Given the description of an element on the screen output the (x, y) to click on. 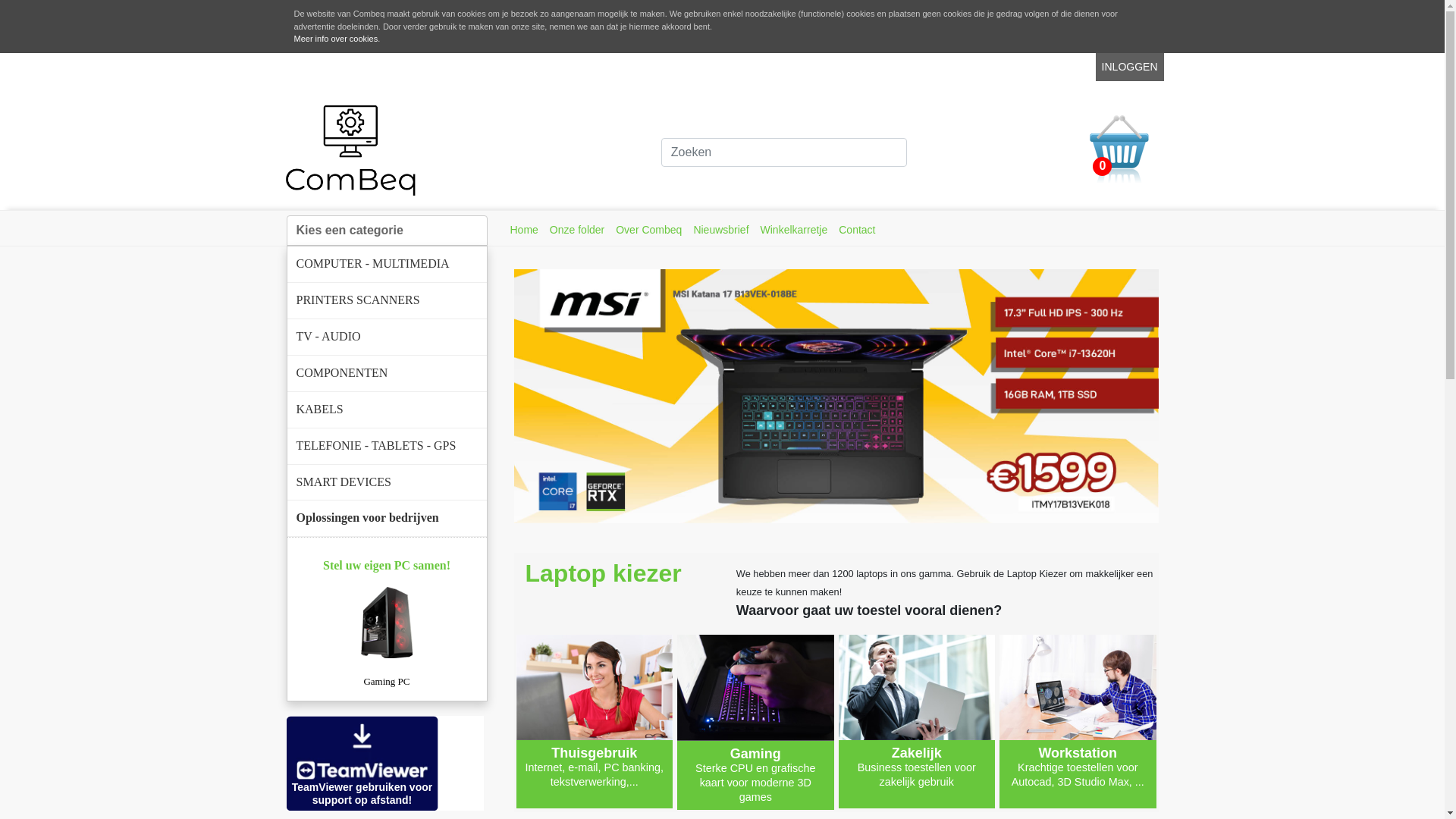
COMPONENTEN Element type: text (386, 373)
TV - AUDIO Element type: text (386, 336)
Meer info over cookies Element type: text (336, 38)
Kies een categorie Element type: text (386, 230)
Onze folder Element type: text (576, 229)
TeamViewer gebruiken voor support op afstand! Element type: text (362, 762)
Gaming PC Element type: text (386, 636)
PRINTERS SCANNERS Element type: text (386, 300)
TeamViewer voor support op afstand Element type: hover (362, 762)
Winkelkarretje Element type: text (794, 229)
COMPUTER - MULTIMEDIA Element type: text (386, 264)
KABELS Element type: text (386, 409)
Gaming
Sterke CPU en grafische kaart voor moderne 3D games Element type: text (755, 721)
Nieuwsbrief Element type: text (720, 229)
Contact Element type: text (856, 229)
Over Combeq Element type: text (648, 229)
TELEFONIE - TABLETS - GPS Element type: text (386, 446)
Home Element type: text (523, 229)
Oplossingen voor bedrijven Element type: text (386, 518)
Zakelijk
Business toestellen voor zakelijk gebruik Element type: text (916, 720)
SMART DEVICES Element type: text (386, 482)
